Given the description of an element on the screen output the (x, y) to click on. 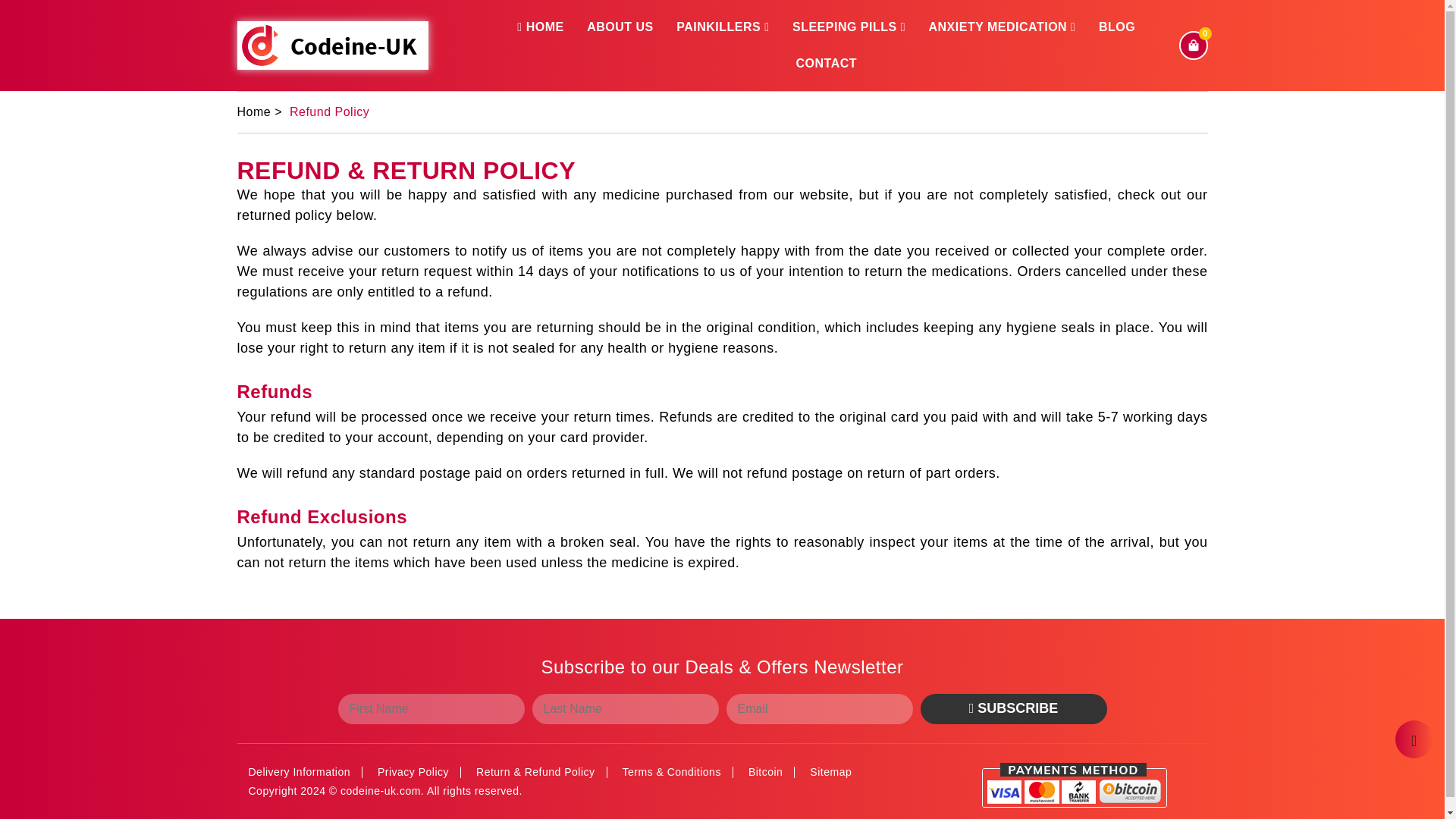
HOME (540, 27)
ANXIETY MEDICATION (1001, 27)
0 (1192, 43)
Sitemap (830, 772)
BLOG (1117, 27)
CONTACT (825, 63)
Privacy Policy (412, 772)
PAINKILLERS (722, 27)
SUBSCRIBE (1013, 708)
SLEEPING PILLS (848, 27)
